Given the description of an element on the screen output the (x, y) to click on. 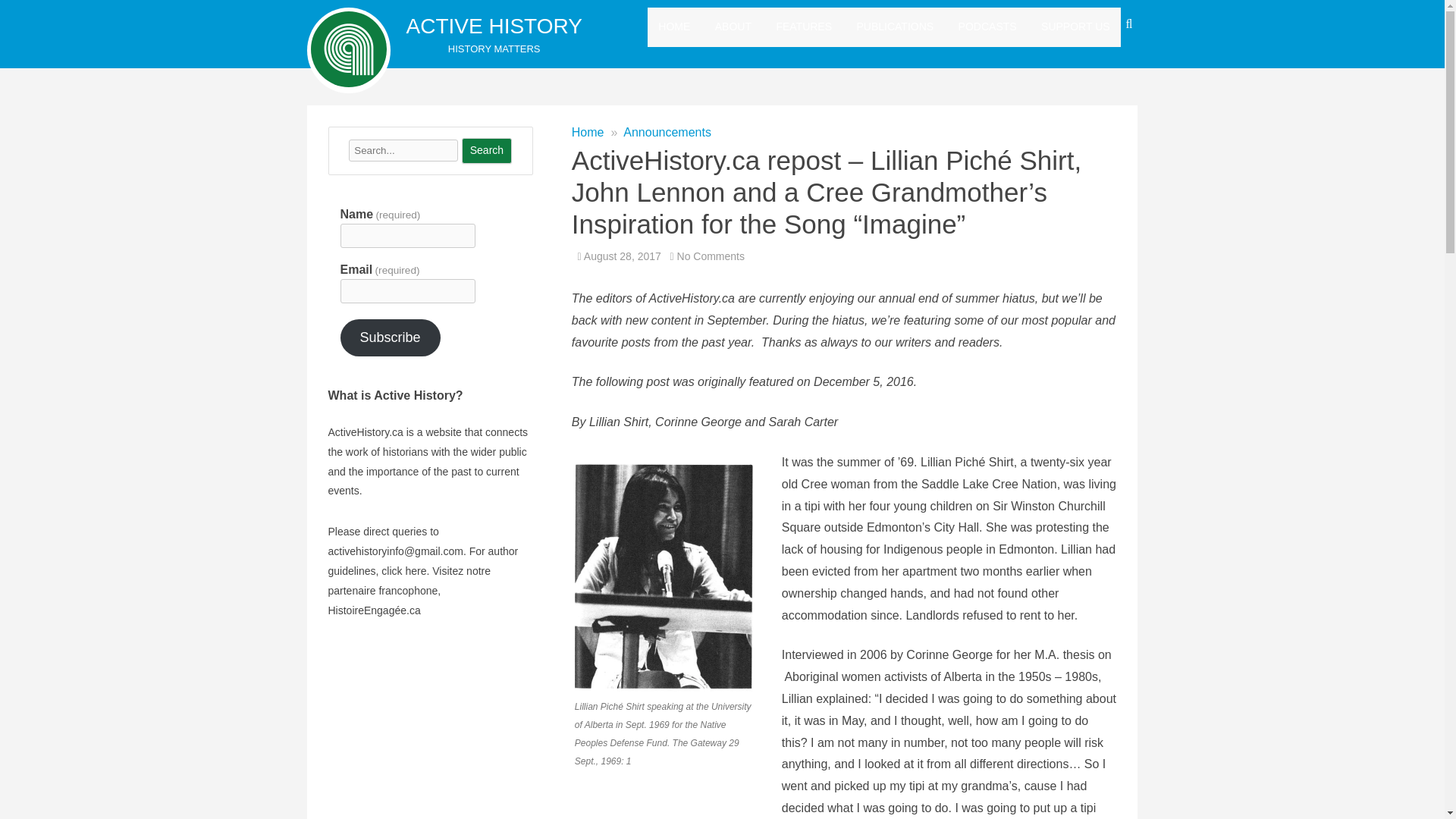
ACTIVE HISTORY (494, 26)
PUBLICATIONS (895, 26)
Home (588, 132)
PODCASTS (987, 26)
Announcements (667, 132)
Active History (494, 26)
Search (486, 150)
SUPPORT US (1075, 26)
ABOUT (732, 26)
FEATURES (803, 26)
